Given the description of an element on the screen output the (x, y) to click on. 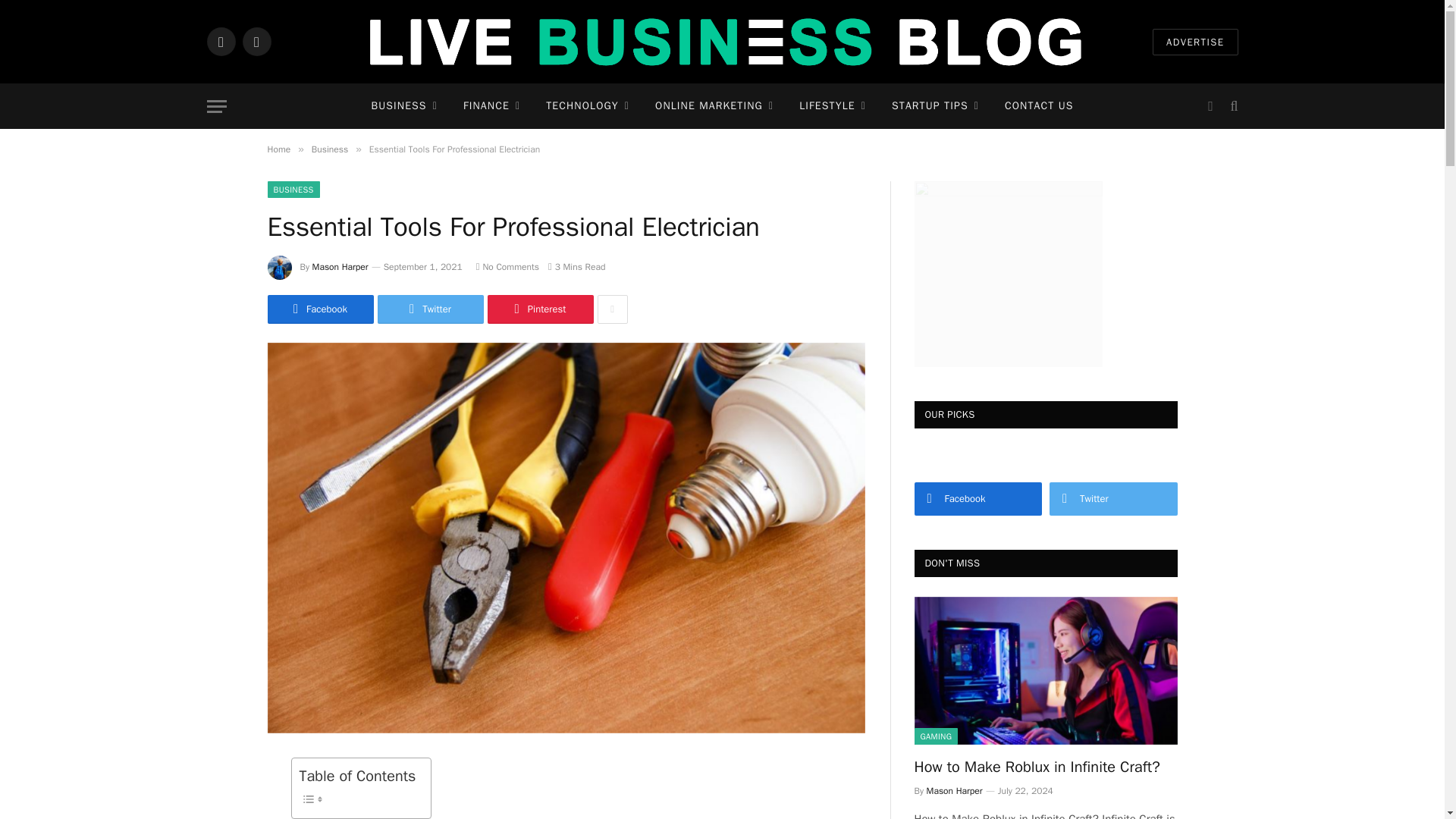
Twitter (256, 41)
Facebook (220, 41)
ADVERTISE (1196, 41)
BUSINESS (403, 105)
FINANCE (490, 105)
Live Business Blog (722, 41)
TECHNOLOGY (587, 105)
